Given the description of an element on the screen output the (x, y) to click on. 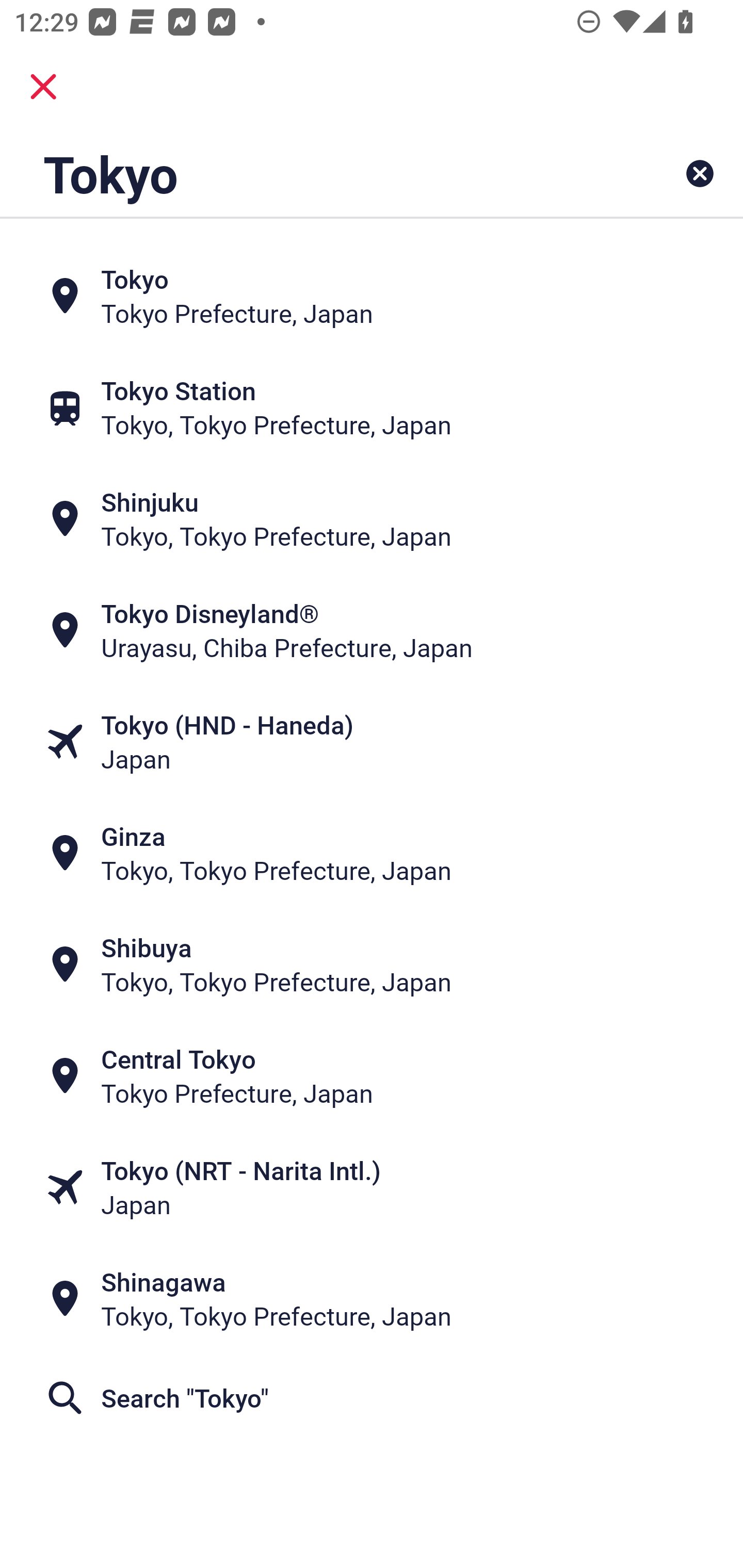
close. (43, 86)
Clear (699, 173)
Tokyo (306, 173)
Tokyo Tokyo Prefecture, Japan (371, 295)
Tokyo Station Tokyo, Tokyo Prefecture, Japan (371, 406)
Shinjuku Tokyo, Tokyo Prefecture, Japan (371, 517)
Tokyo Disneyland® Urayasu, Chiba Prefecture, Japan (371, 629)
Tokyo (HND - Haneda) Japan (371, 742)
Ginza Tokyo, Tokyo Prefecture, Japan (371, 853)
Shibuya Tokyo, Tokyo Prefecture, Japan (371, 964)
Central Tokyo Tokyo Prefecture, Japan (371, 1076)
Tokyo (NRT - Narita Intl.) Japan (371, 1187)
Shinagawa Tokyo, Tokyo Prefecture, Japan (371, 1298)
Search "Tokyo" (371, 1397)
